Given the description of an element on the screen output the (x, y) to click on. 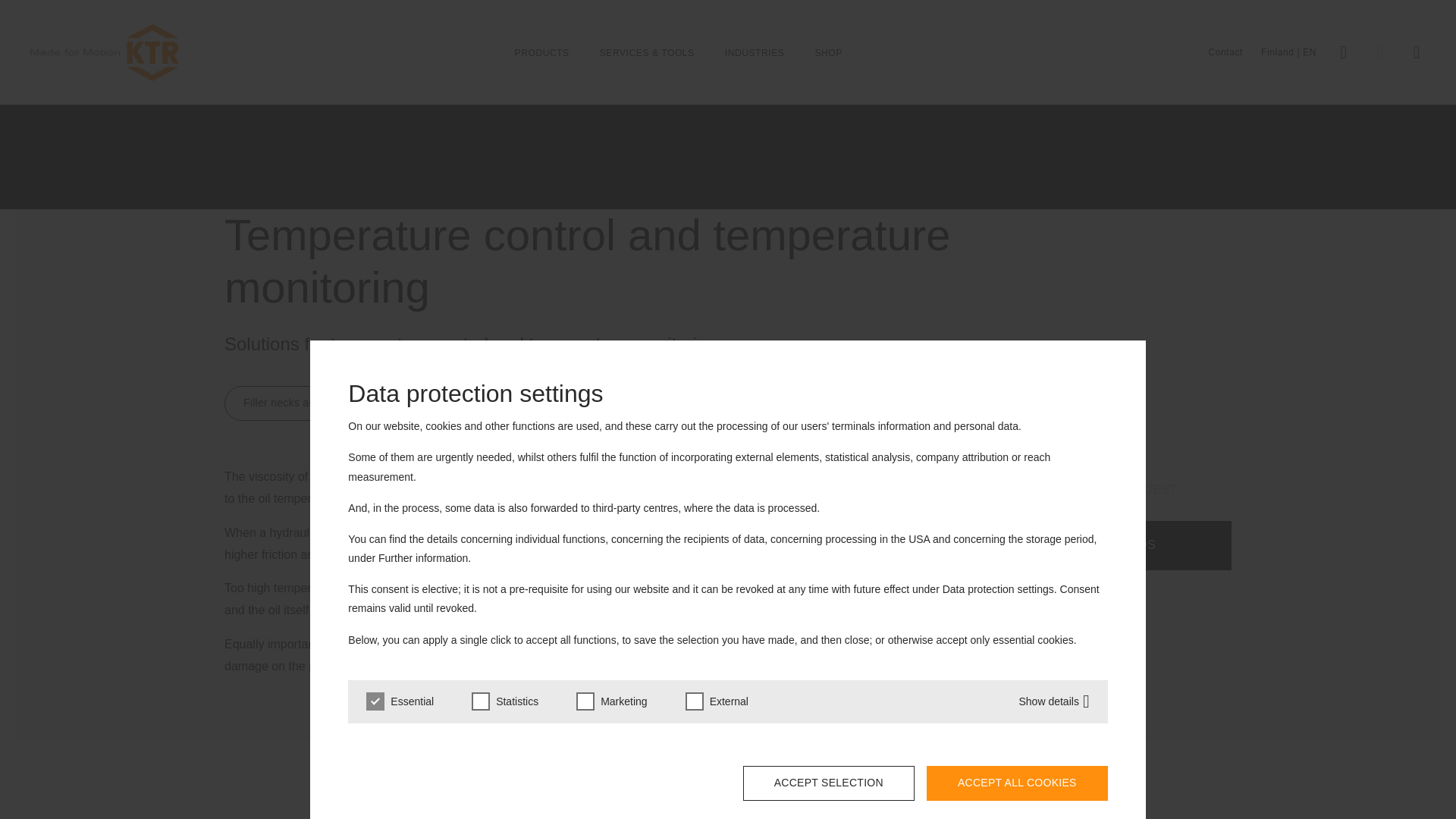
SHOP (827, 52)
Temperature probe and temperature switch (578, 402)
Contact (1225, 51)
Products (97, 125)
Tank heaters (760, 402)
PRODUCT REQUEST (1114, 489)
login (1343, 52)
Logo KTR - Go to homepage (104, 52)
Hydraulic components (178, 125)
Filler necks and oil level sight glasses (336, 402)
